Given the description of an element on the screen output the (x, y) to click on. 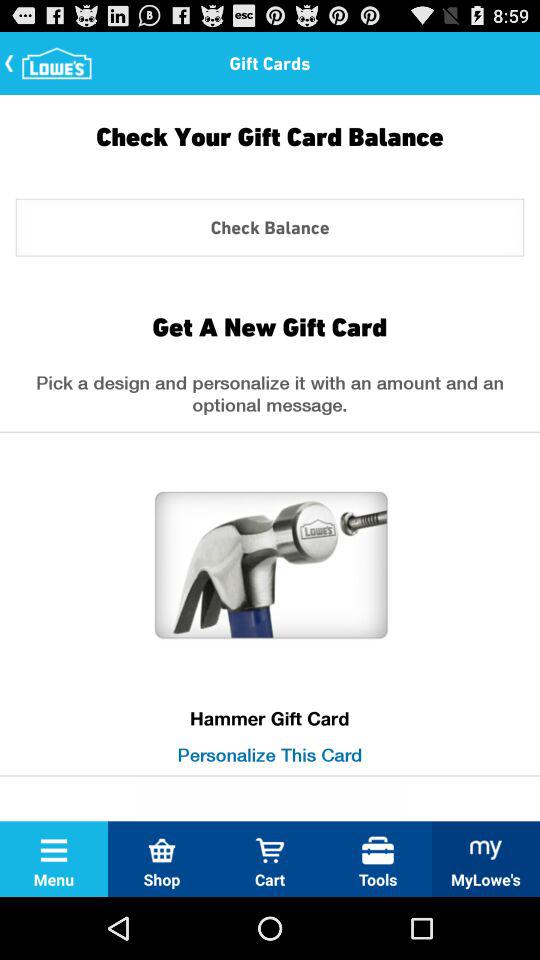
scroll to check your gift (269, 151)
